Given the description of an element on the screen output the (x, y) to click on. 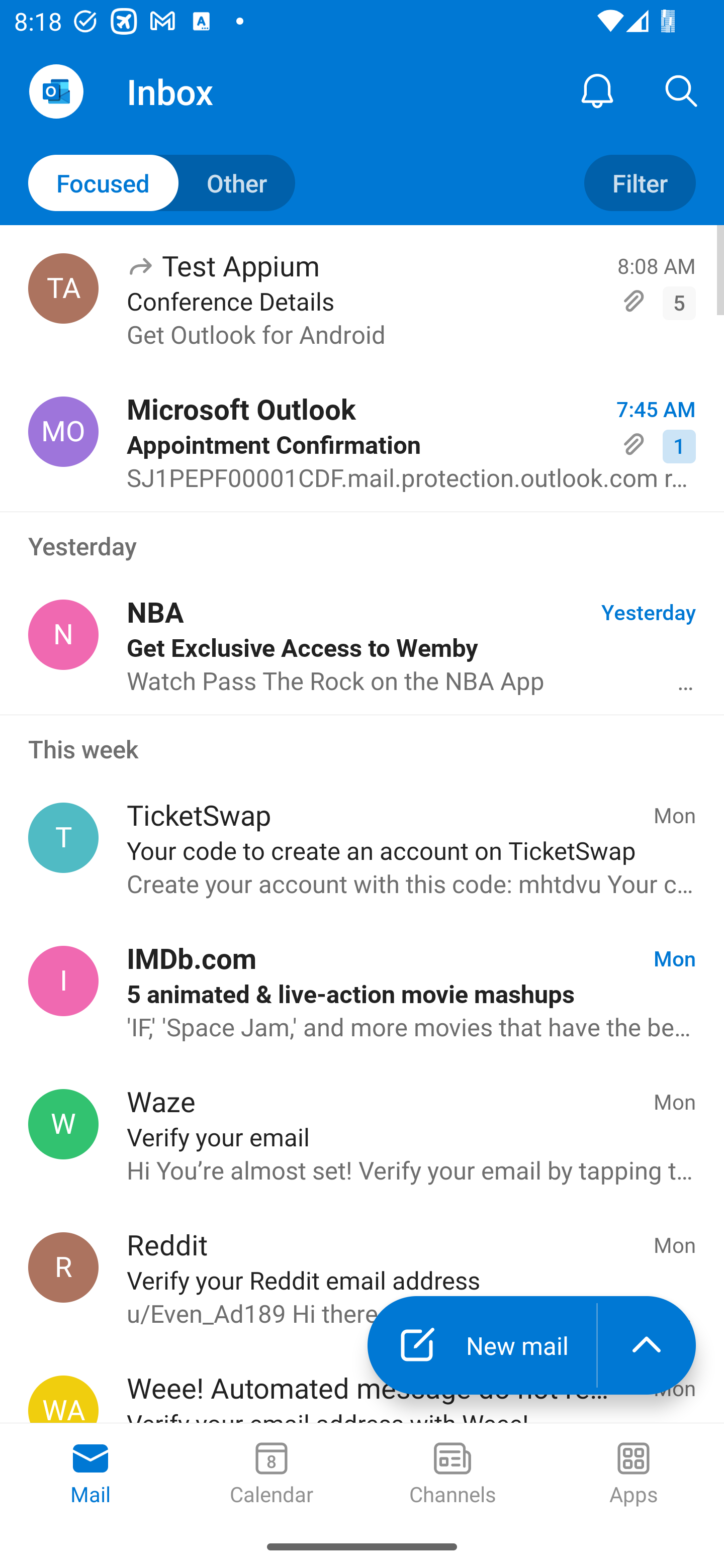
Notification Center (597, 90)
Search, ,  (681, 90)
Open Navigation Drawer (55, 91)
Toggle to other mails (161, 183)
Filter (639, 183)
Test Appium, testappium002@outlook.com (63, 288)
NBA, NBA@email.nba.com (63, 633)
TicketSwap, info@ticketswap.com (63, 837)
IMDb.com, do-not-reply@imdb.com (63, 980)
Waze, noreply@waze.com (63, 1123)
Reddit, noreply@reddit.com (63, 1267)
New mail (481, 1344)
launch the extended action menu (646, 1344)
Calendar (271, 1474)
Channels (452, 1474)
Apps (633, 1474)
